Given the description of an element on the screen output the (x, y) to click on. 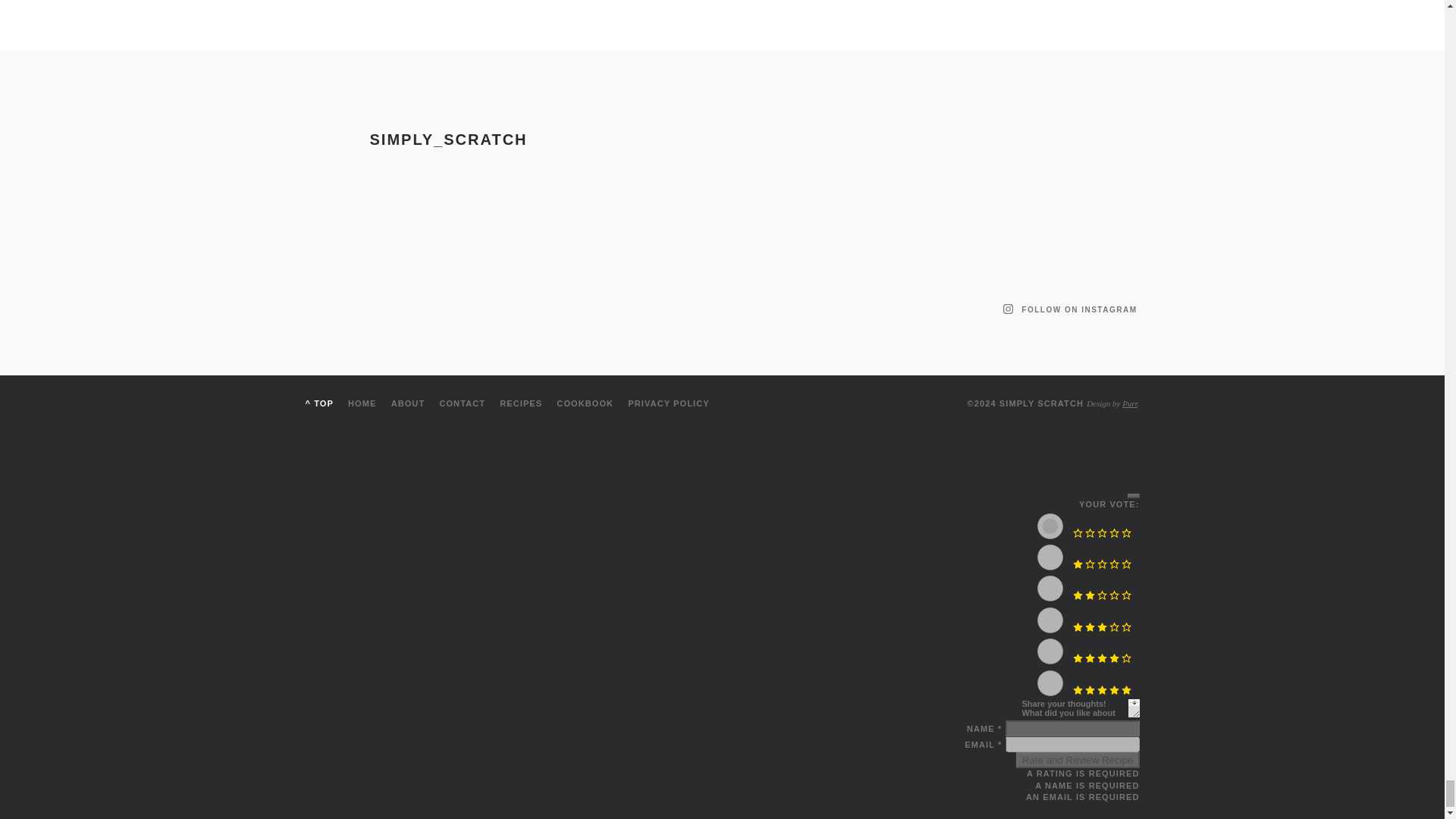
3 (1049, 620)
4 (1049, 651)
0 (1049, 525)
1 (1049, 557)
5 (1049, 683)
2 (1049, 588)
